Given the description of an element on the screen output the (x, y) to click on. 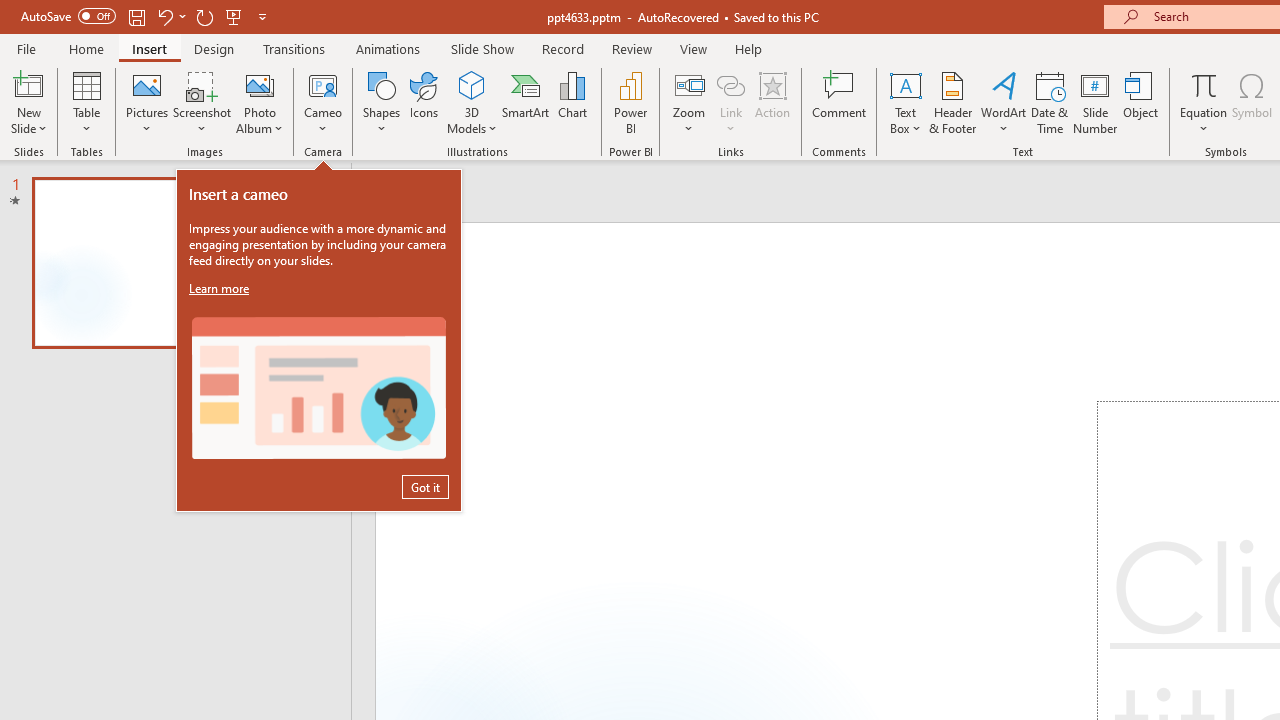
New Photo Album... (259, 84)
Link (731, 102)
SmartArt... (525, 102)
